Given the description of an element on the screen output the (x, y) to click on. 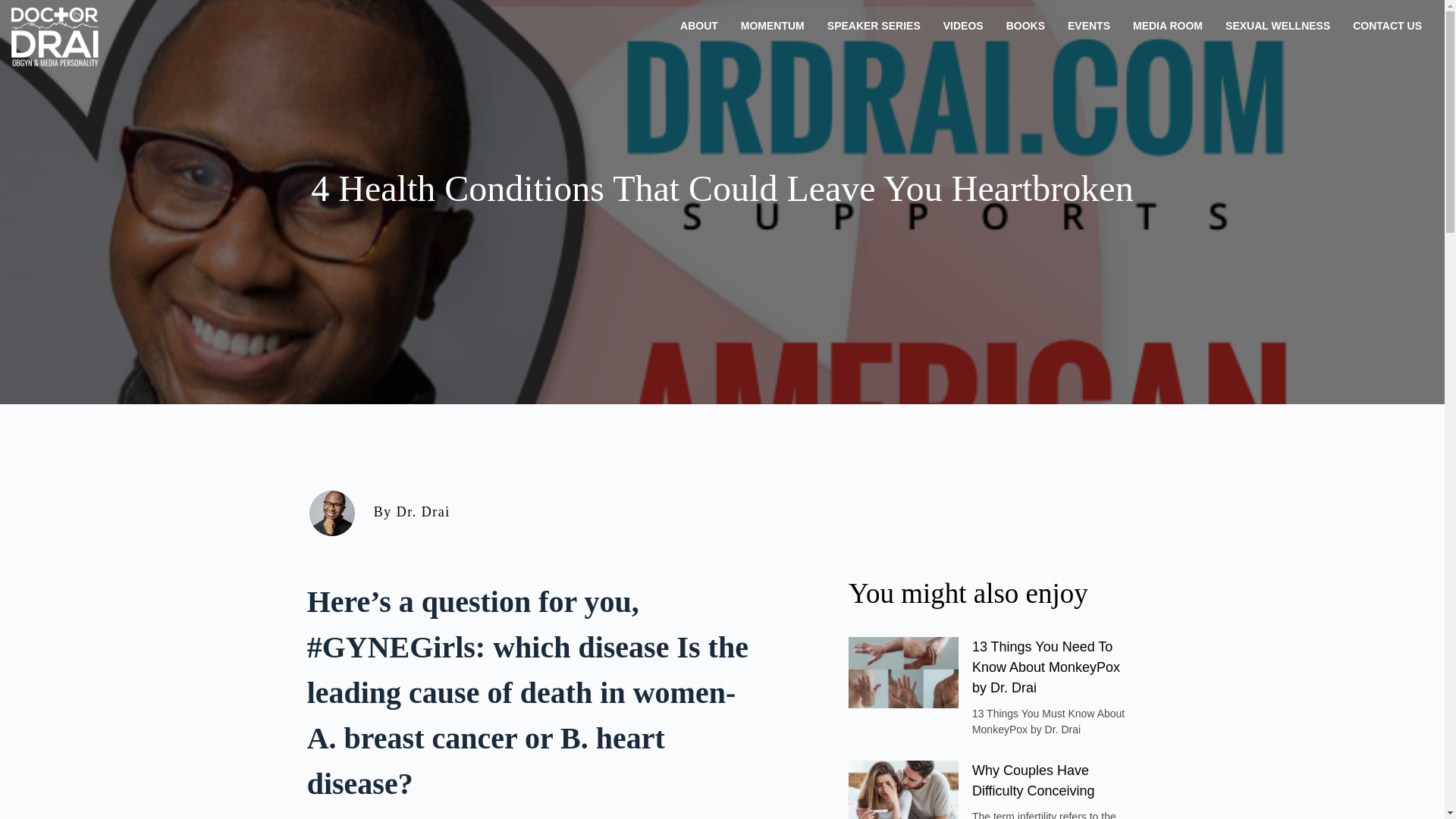
VIDEOS (962, 26)
BOOKS (1025, 26)
EVENTS (1089, 26)
Why Couples Have Difficulty Conceiving (1033, 780)
CONTACT US (1386, 26)
13 Things You Need To Know About MonkeyPox by Dr. Drai (1045, 667)
MOMENTUM (772, 26)
SEXUAL WELLNESS (1277, 26)
ABOUT (698, 26)
SPEAKER SERIES (873, 26)
MEDIA ROOM (1167, 26)
